Given the description of an element on the screen output the (x, y) to click on. 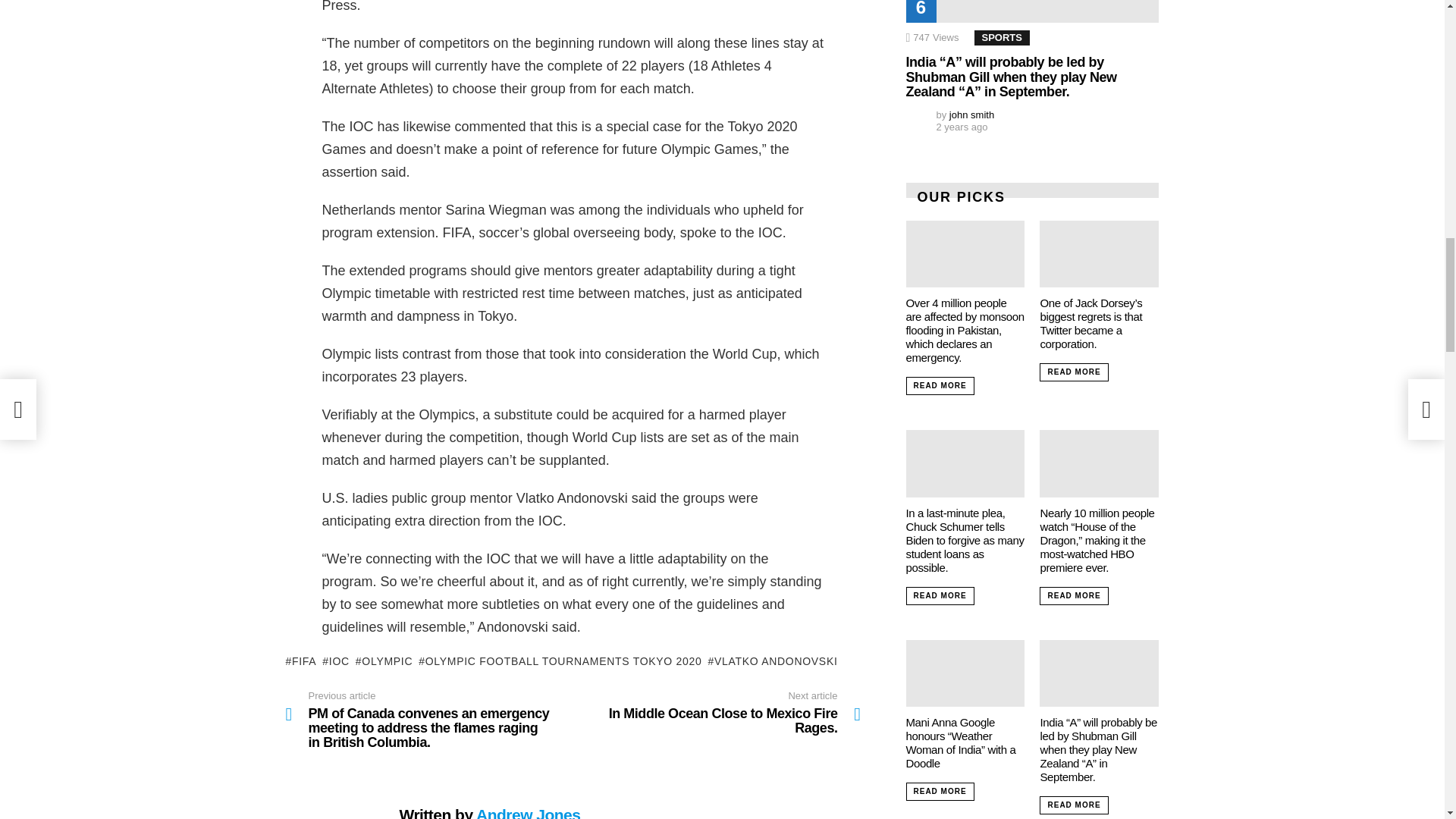
IOC (335, 661)
OLYMPIC FOOTBALL TOURNAMENTS TOKYO 2020 (716, 713)
Andrew Jones (560, 661)
VLATKO ANDONOVSKI (527, 812)
FIFA (772, 661)
OLYMPIC (300, 661)
